Given the description of an element on the screen output the (x, y) to click on. 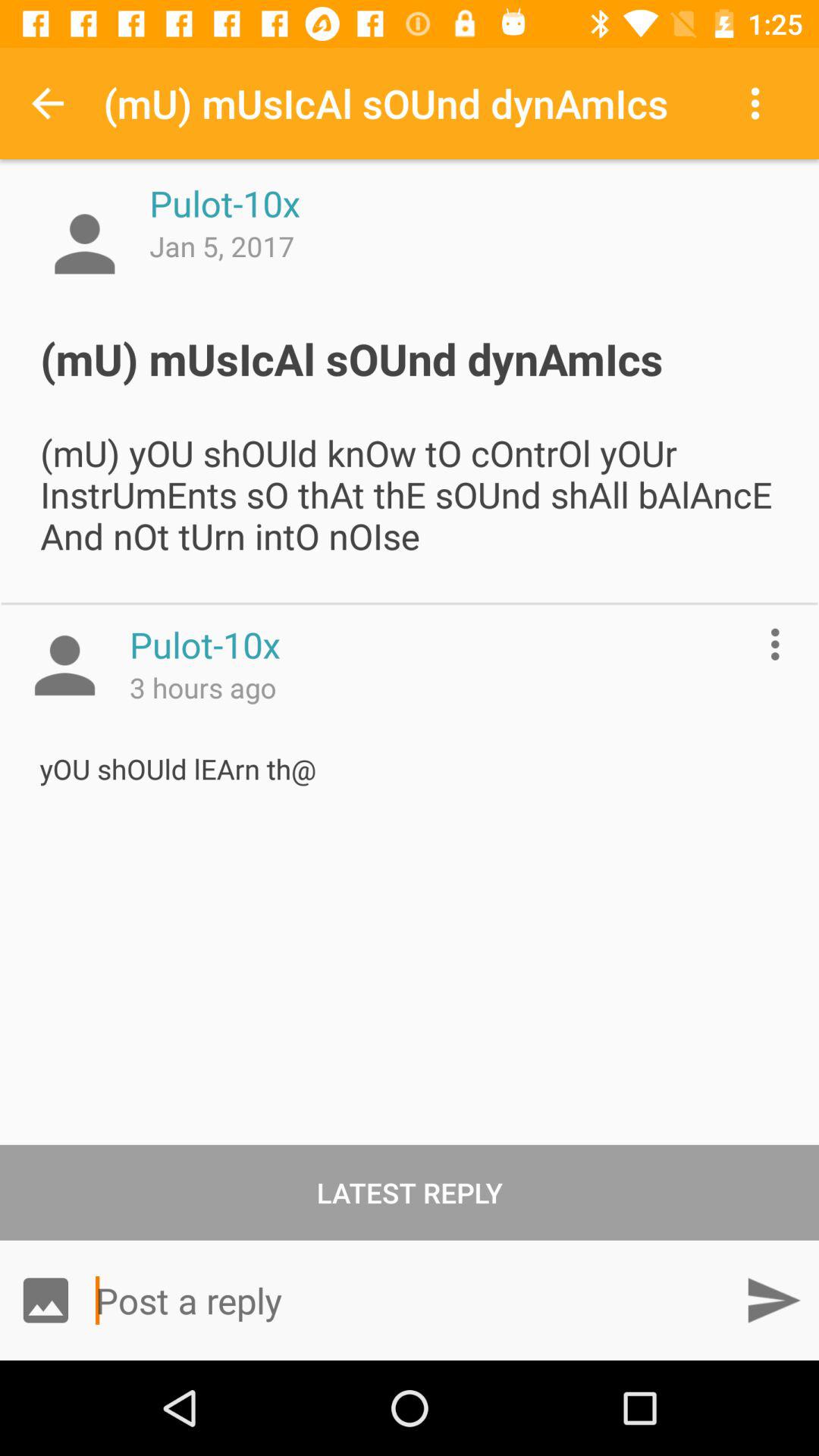
view profile picture (64, 665)
